Given the description of an element on the screen output the (x, y) to click on. 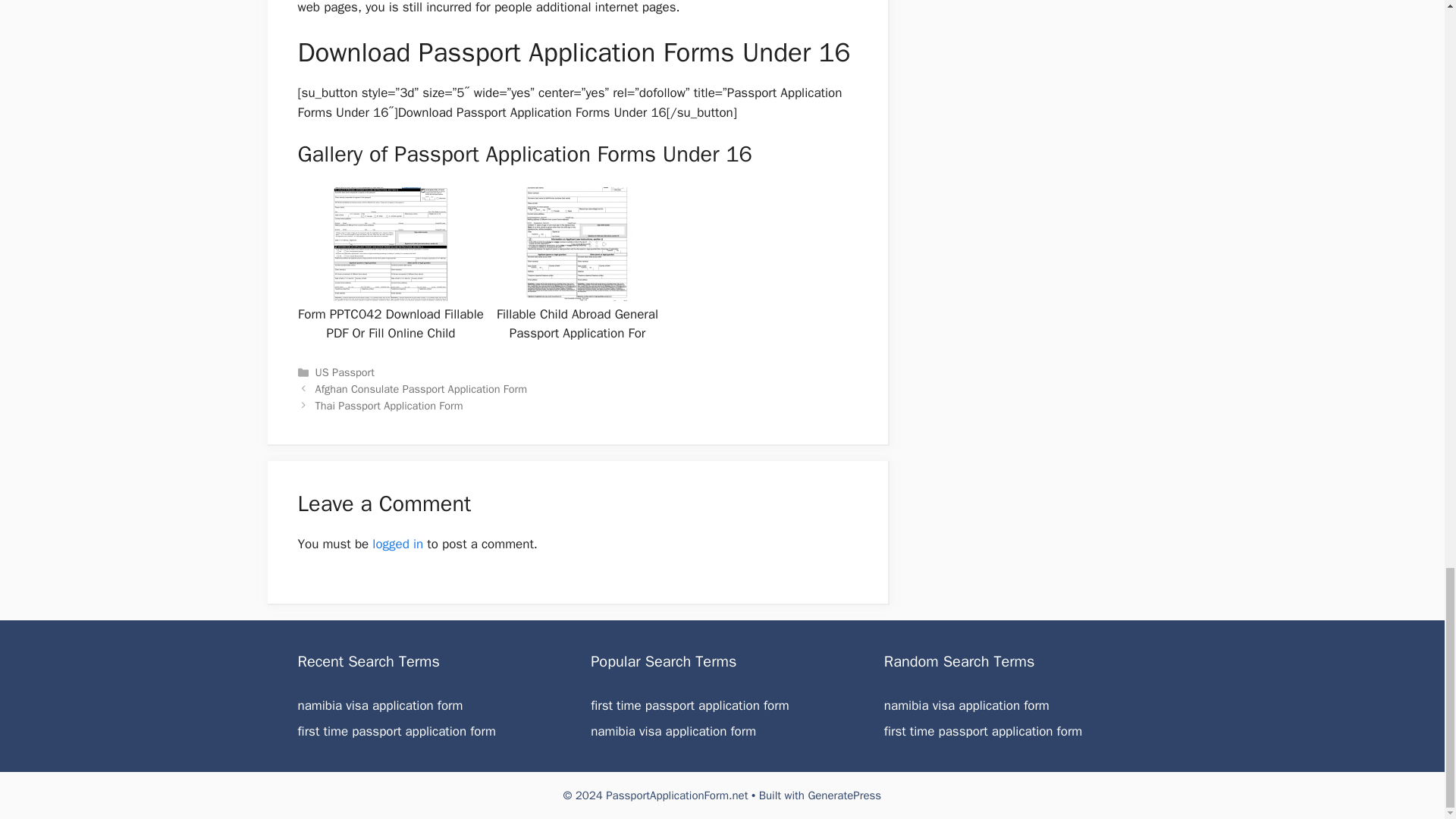
first time passport application form (690, 705)
first time passport application form (982, 731)
first time passport application form (690, 705)
Next (389, 405)
Thai Passport Application Form (389, 405)
Afghan Consulate Passport Application Form (421, 388)
namibia visa application form (673, 731)
Previous (421, 388)
US Passport (344, 372)
namibia visa application form (380, 705)
namibia visa application form (966, 705)
namibia visa application form (966, 705)
logged in (397, 544)
namibia visa application form (380, 705)
first time passport application form (396, 731)
